Given the description of an element on the screen output the (x, y) to click on. 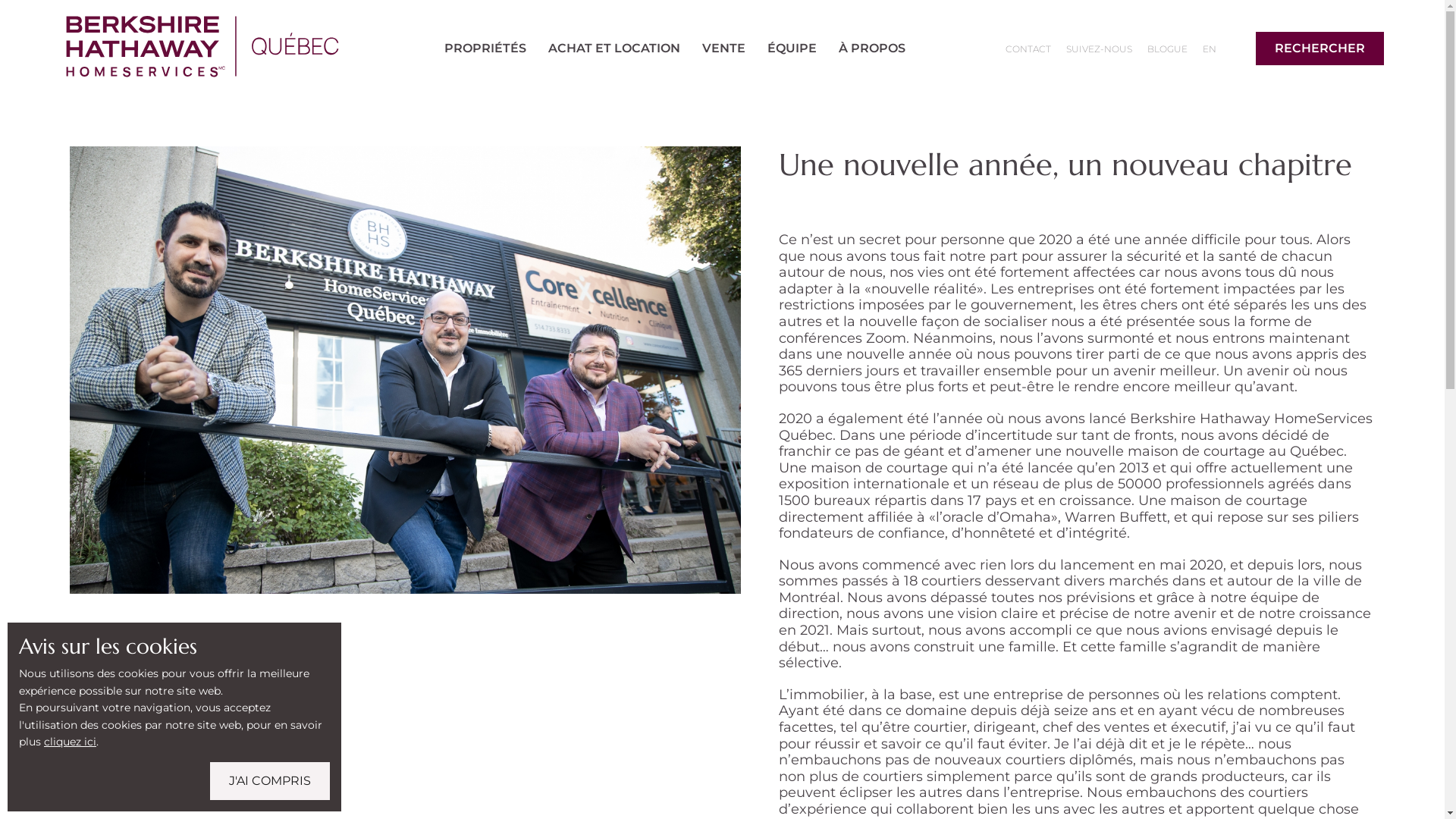
ACHAT ET LOCATION Element type: text (613, 47)
BLOGUE Element type: text (1166, 48)
VENTE Element type: text (724, 47)
cliquez ici Element type: text (69, 741)
CONTACT Element type: text (1027, 48)
EN Element type: text (1208, 48)
J'AI COMPRIS Element type: text (269, 781)
SUIVEZ-NOUS Element type: text (1098, 48)
RECHERCHER Element type: text (1319, 47)
